Given the description of an element on the screen output the (x, y) to click on. 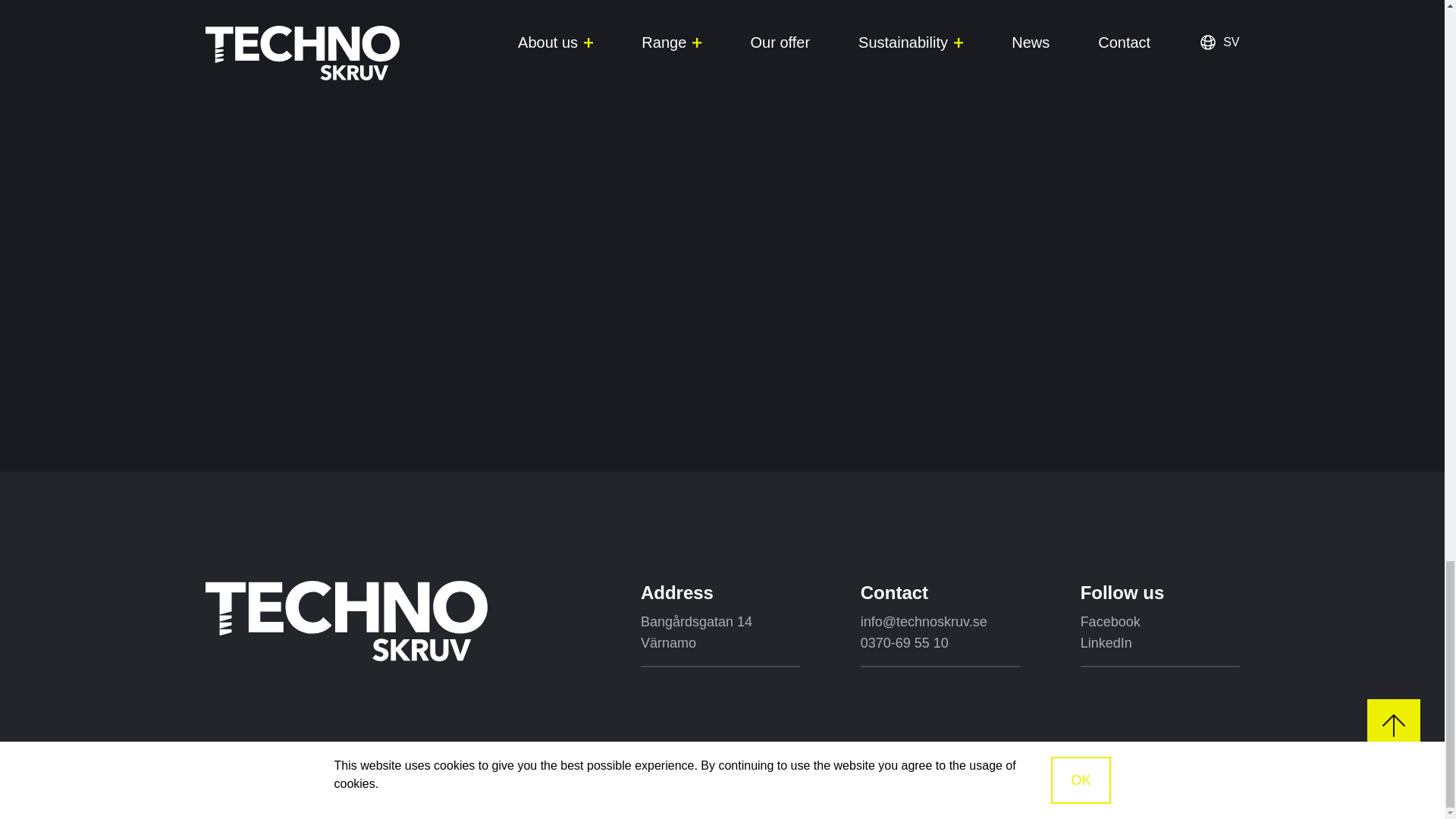
Facebook (1110, 621)
0370-69 55 10 (904, 642)
LinkedIn (1106, 642)
GDPR: Policy for the processing of personal data. (1105, 797)
